Given the description of an element on the screen output the (x, y) to click on. 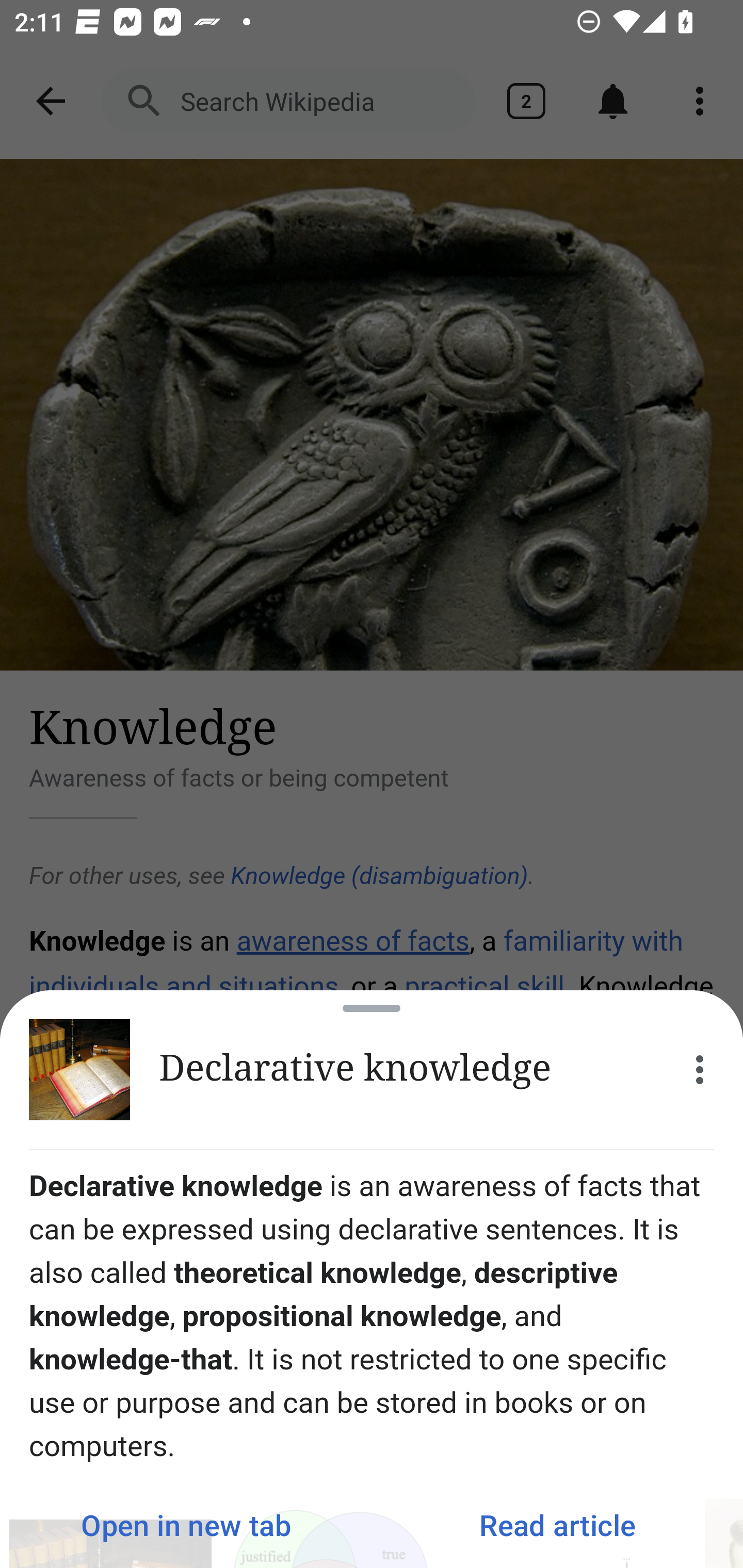
Declarative knowledge More options (371, 1069)
More options (699, 1070)
Open in new tab (185, 1524)
Read article (557, 1524)
